Given the description of an element on the screen output the (x, y) to click on. 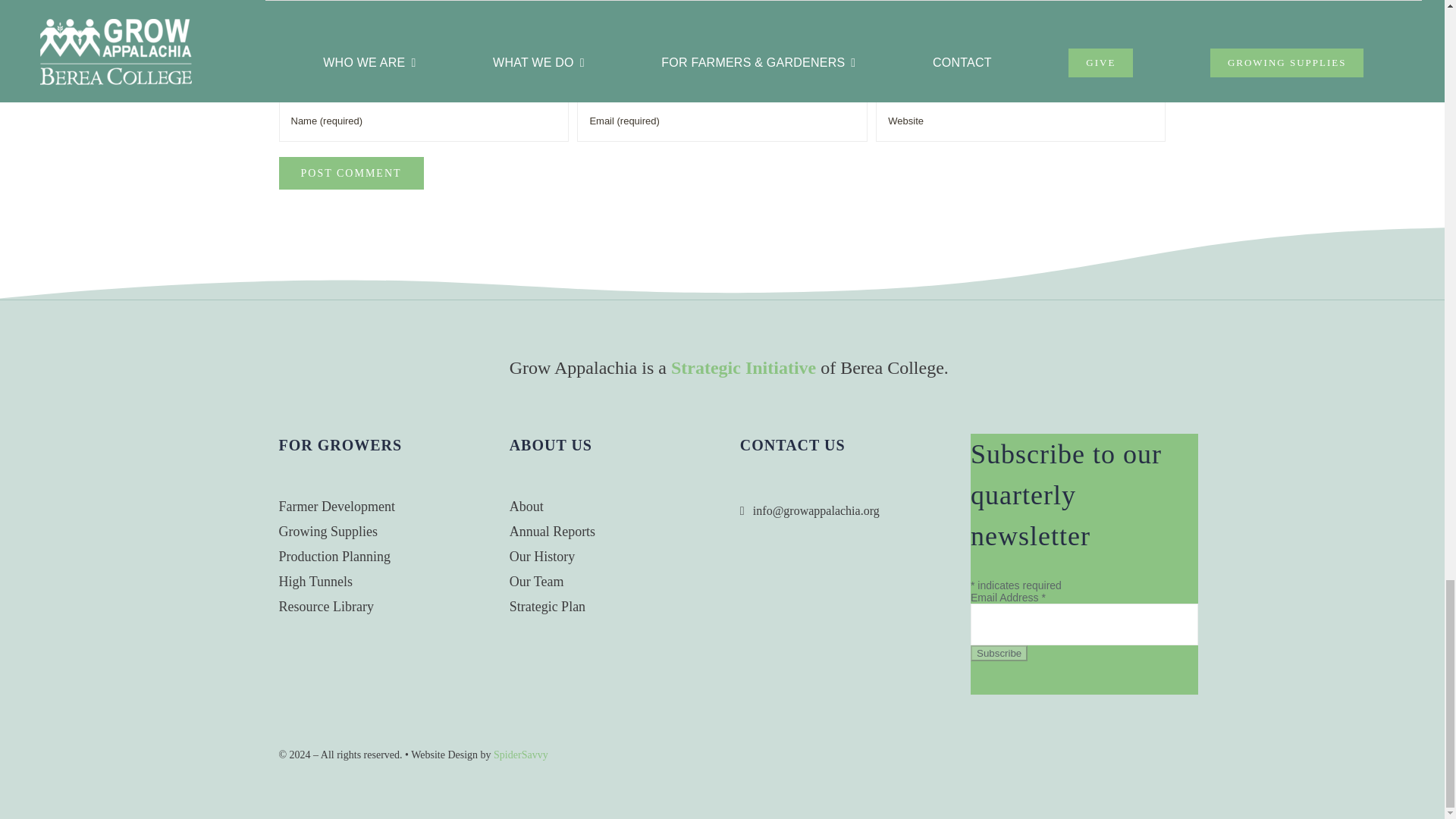
Subscribe (999, 652)
Post Comment (351, 173)
